Given the description of an element on the screen output the (x, y) to click on. 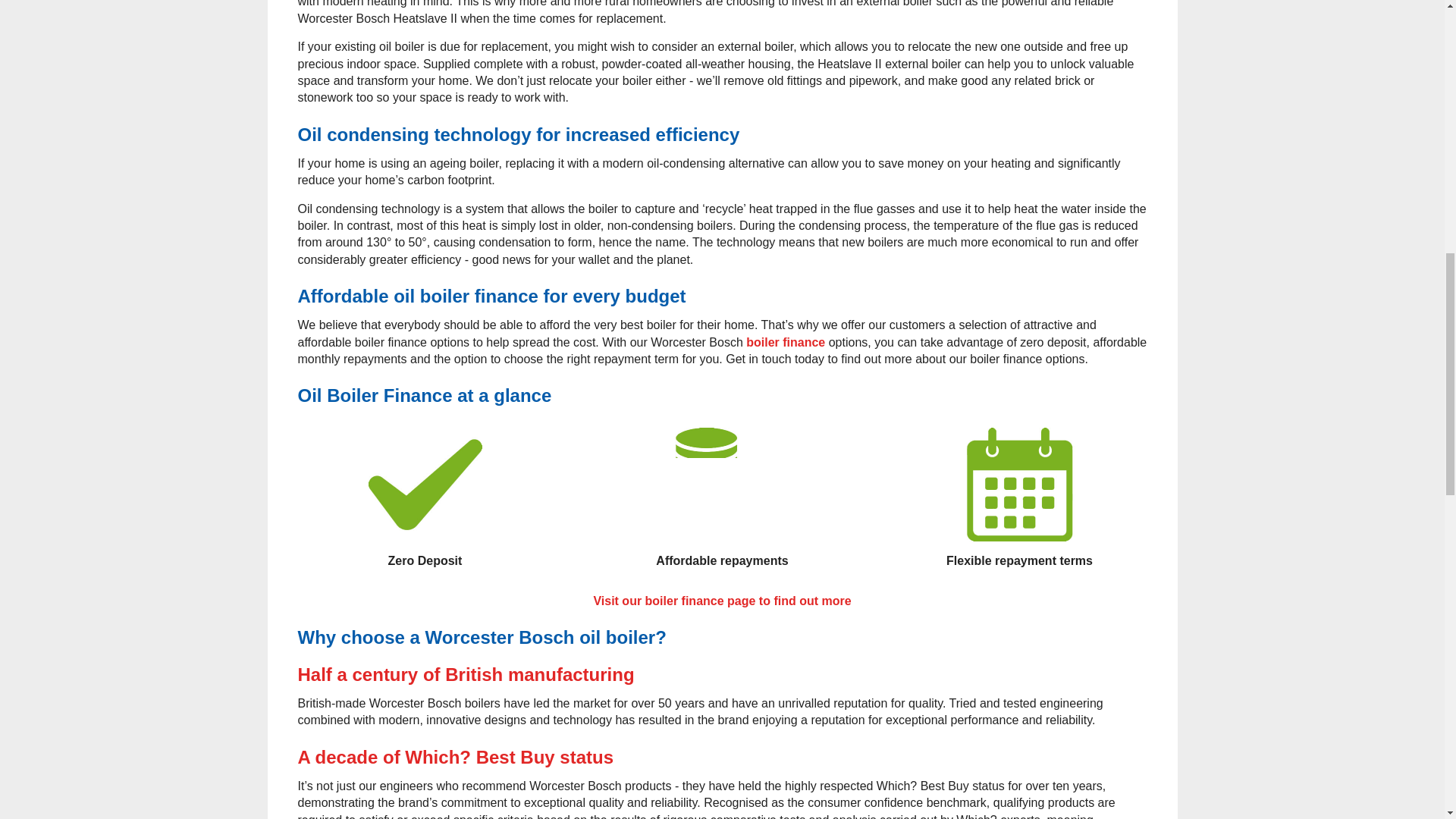
Visit our boiler finance page to find out more (721, 600)
boiler finance (785, 341)
